Given the description of an element on the screen output the (x, y) to click on. 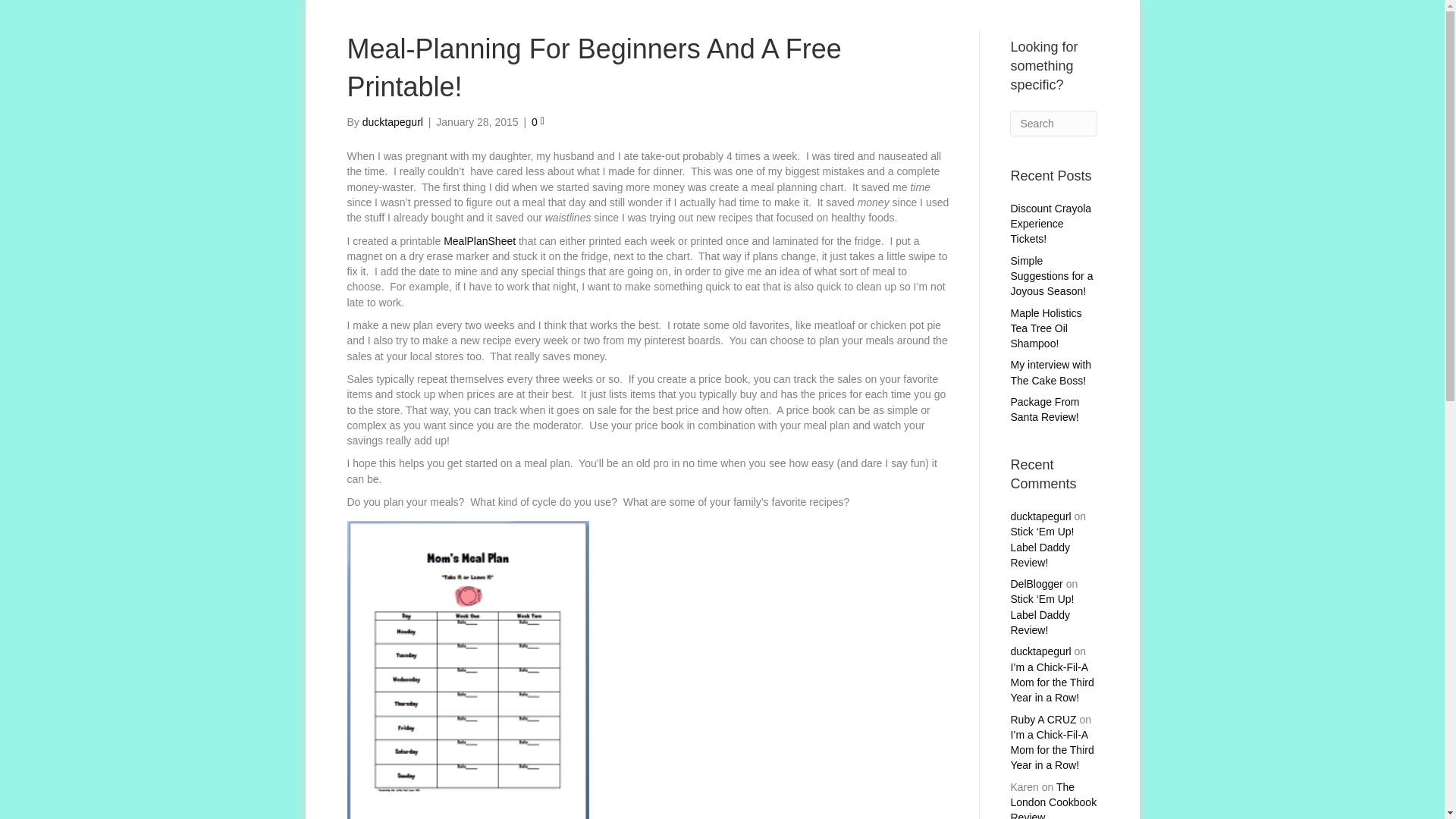
Ruby A CRUZ (1042, 719)
Meal Plan Sheet (475, 681)
Maple Holistics Tea Tree Oil Shampoo! (1045, 328)
0 (537, 121)
Package From Santa Review! (1044, 409)
ducktapegurl (1040, 516)
DelBlogger (1036, 583)
Simple Suggestions for a Joyous Season! (1051, 276)
Type and press Enter to search. (1053, 123)
My interview with The Cake Boss! (1050, 371)
Meal Plan Sheet (479, 241)
Search (1053, 123)
Search (1053, 123)
MealPlanSheet (479, 241)
The London Cookbook Review (1053, 800)
